Given the description of an element on the screen output the (x, y) to click on. 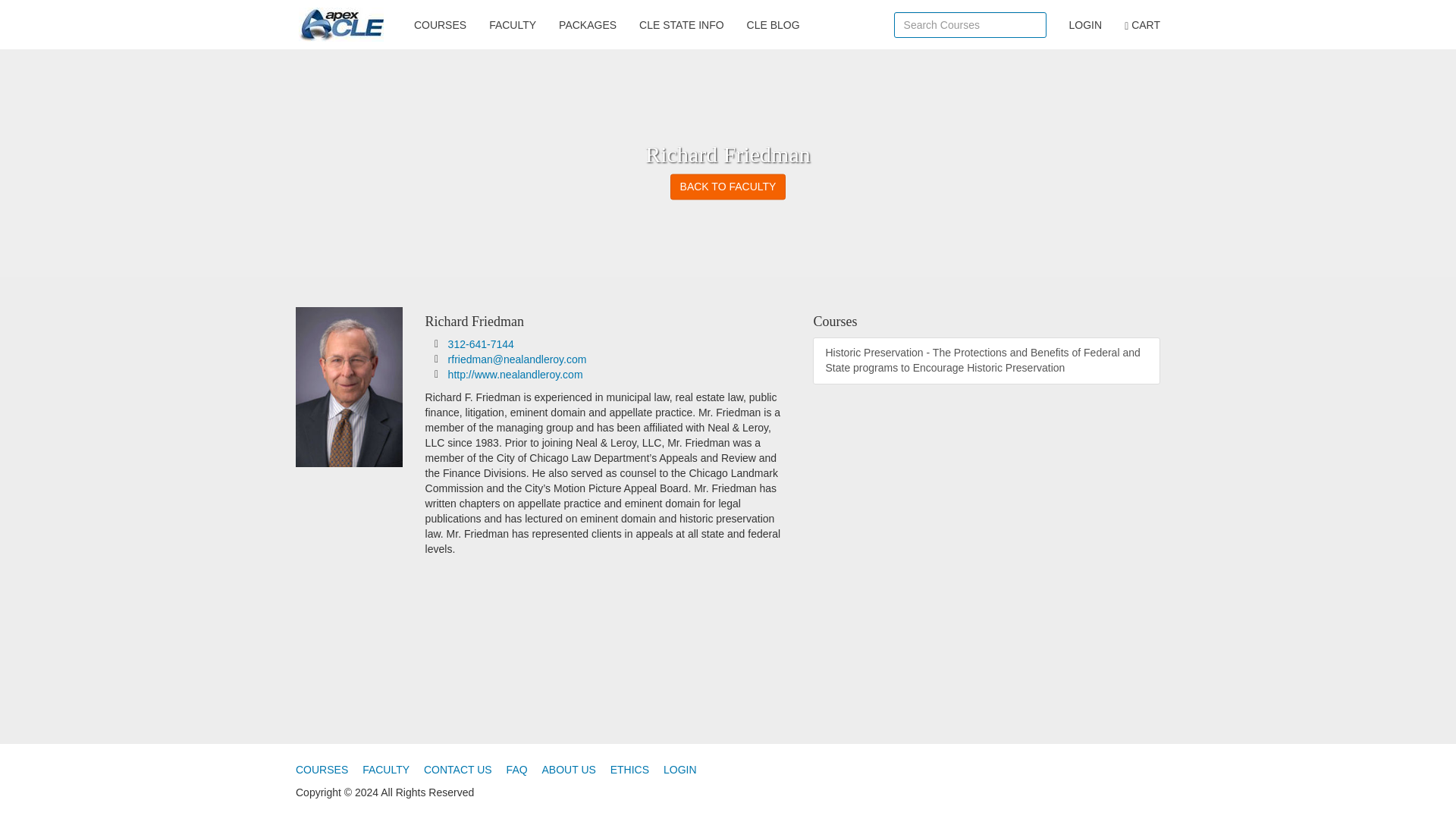
BACK TO FACULTY (727, 186)
CLE BLOG (772, 24)
LOGIN (1085, 24)
FACULTY (512, 24)
CLE STATE INFO (681, 24)
COURSES (440, 24)
CART (1142, 24)
PACKAGES (587, 24)
312-641-7144 (480, 344)
